Given the description of an element on the screen output the (x, y) to click on. 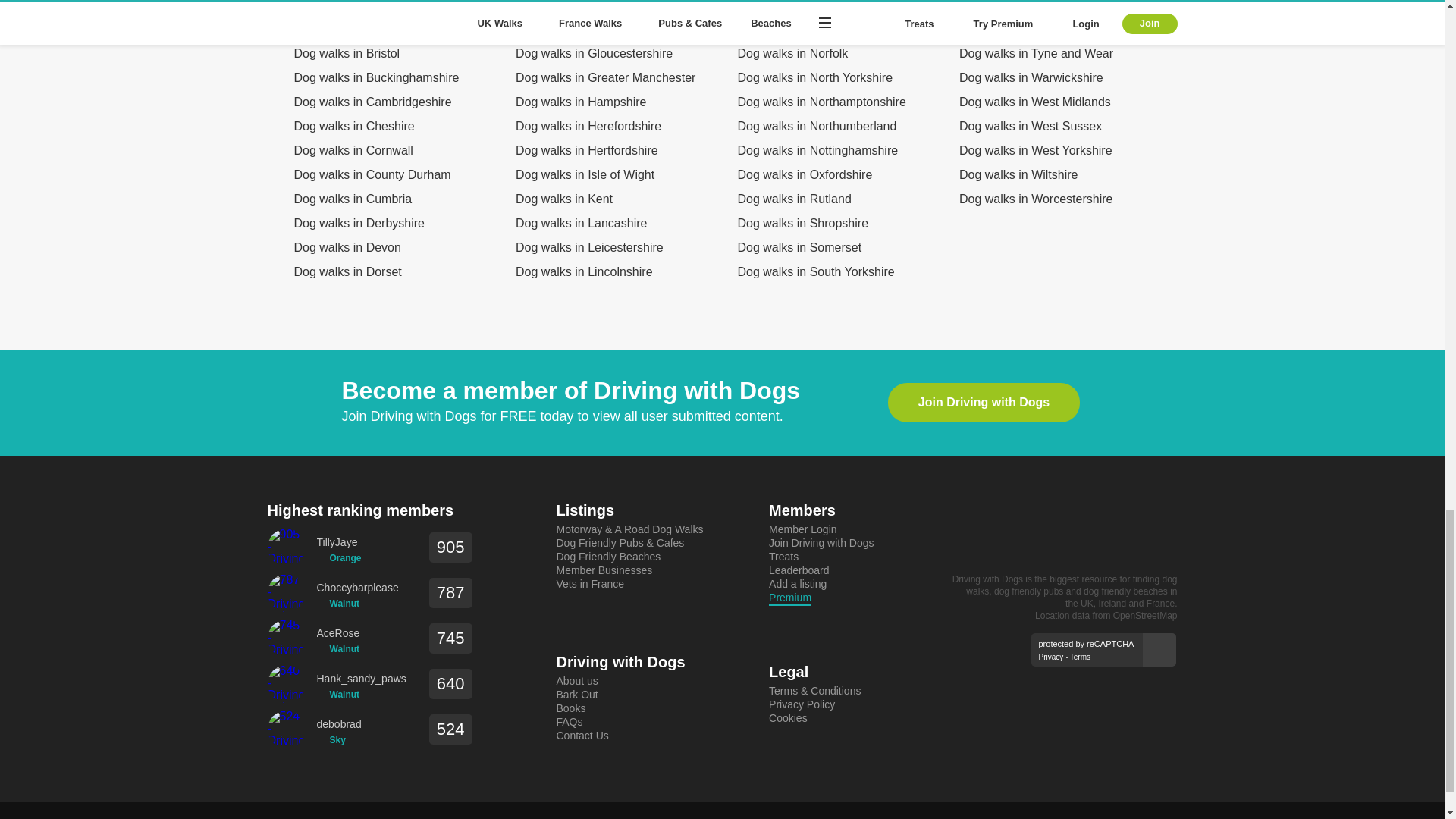
AceRose (338, 633)
TillyJaye (339, 542)
debobrad (339, 724)
Choccybarplease (357, 587)
